Given the description of an element on the screen output the (x, y) to click on. 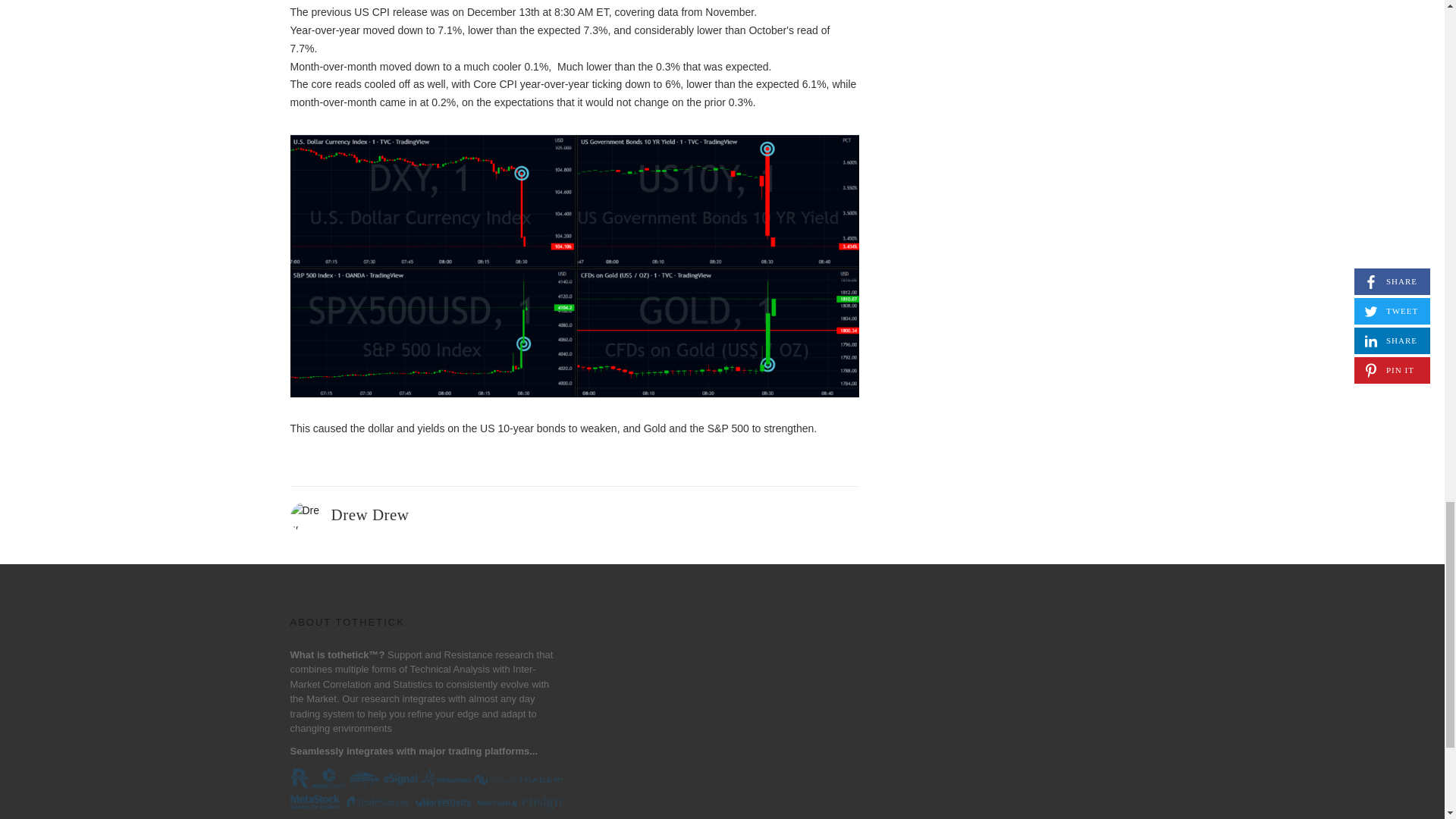
Drew Drew (369, 515)
